Given the description of an element on the screen output the (x, y) to click on. 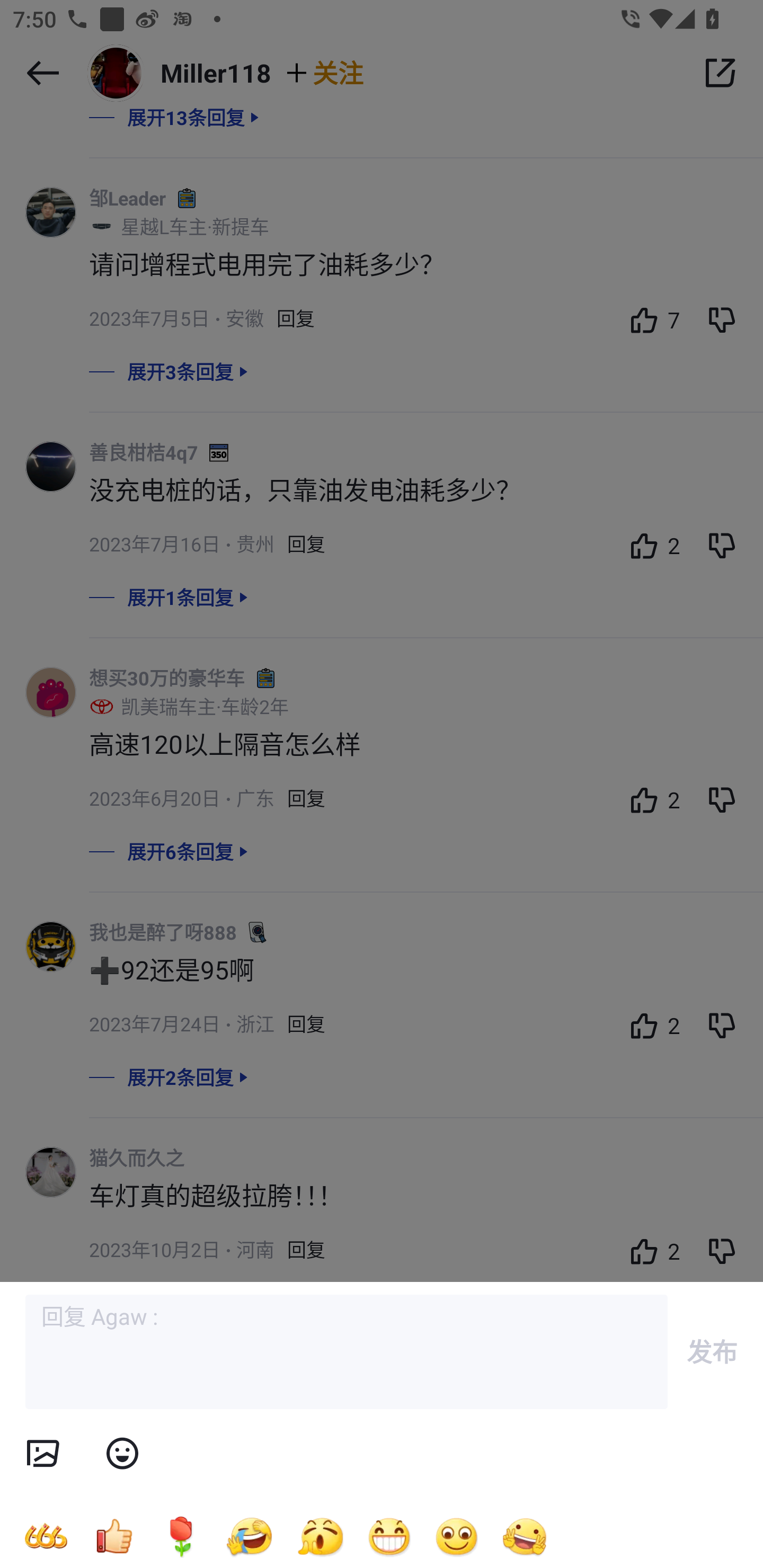
回复 Agaw : (346, 1352)
发布 (711, 1351)
 (42, 1453)
 (122, 1453)
[666] (45, 1535)
[赞] (112, 1535)
[玫瑰] (180, 1535)
[我想静静] (249, 1535)
[小鼓掌] (320, 1535)
[呲牙] (389, 1535)
[微笑] (456, 1535)
[耶] (524, 1535)
